Given the description of an element on the screen output the (x, y) to click on. 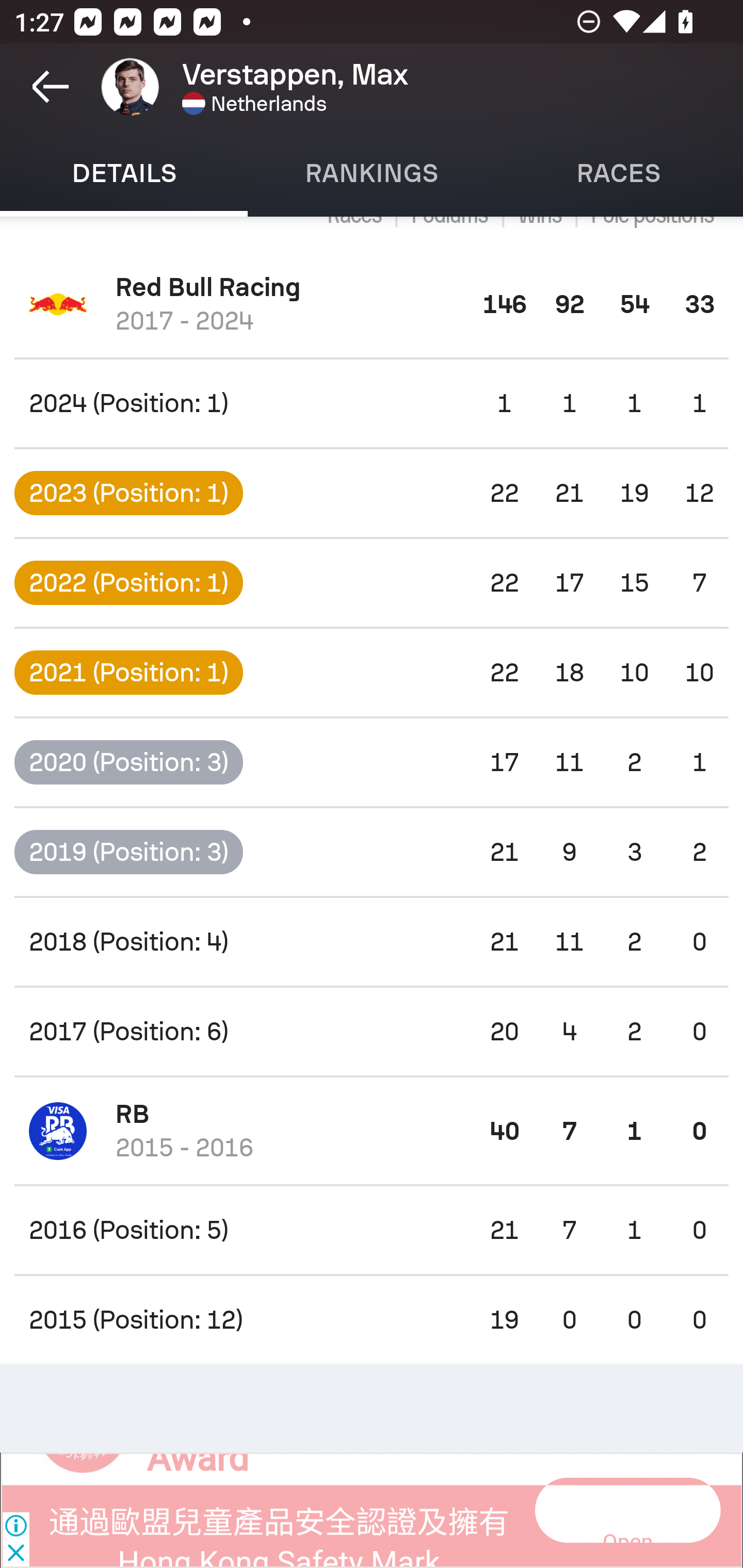
Navigate up (50, 86)
Rankings RANKINGS (371, 173)
Races RACES (619, 173)
Red Bull Racing 2017 - 2024 146 92 54 33 (371, 303)
2024 (Position: 1) 1 1 1 1 (371, 402)
2023 (Position: 1) 22 21 19 12 (371, 493)
2022 (Position: 1) 22 17 15 7 (371, 583)
2021 (Position: 1) 22 18 10 10 (371, 672)
2020 (Position: 3) 17 11 2 1 (371, 761)
2019 (Position: 3) 21 9 3 2 (371, 851)
2018 (Position: 4) 21 11 2 0 (371, 942)
2017 (Position: 6) 20 4 2 0 (371, 1031)
RB 2015 - 2016 40 7 1 0 (371, 1130)
2016 (Position: 5) 21 7 1 0 (371, 1229)
2015 (Position: 12) 19 0 0 0 (371, 1320)
